Given the description of an element on the screen output the (x, y) to click on. 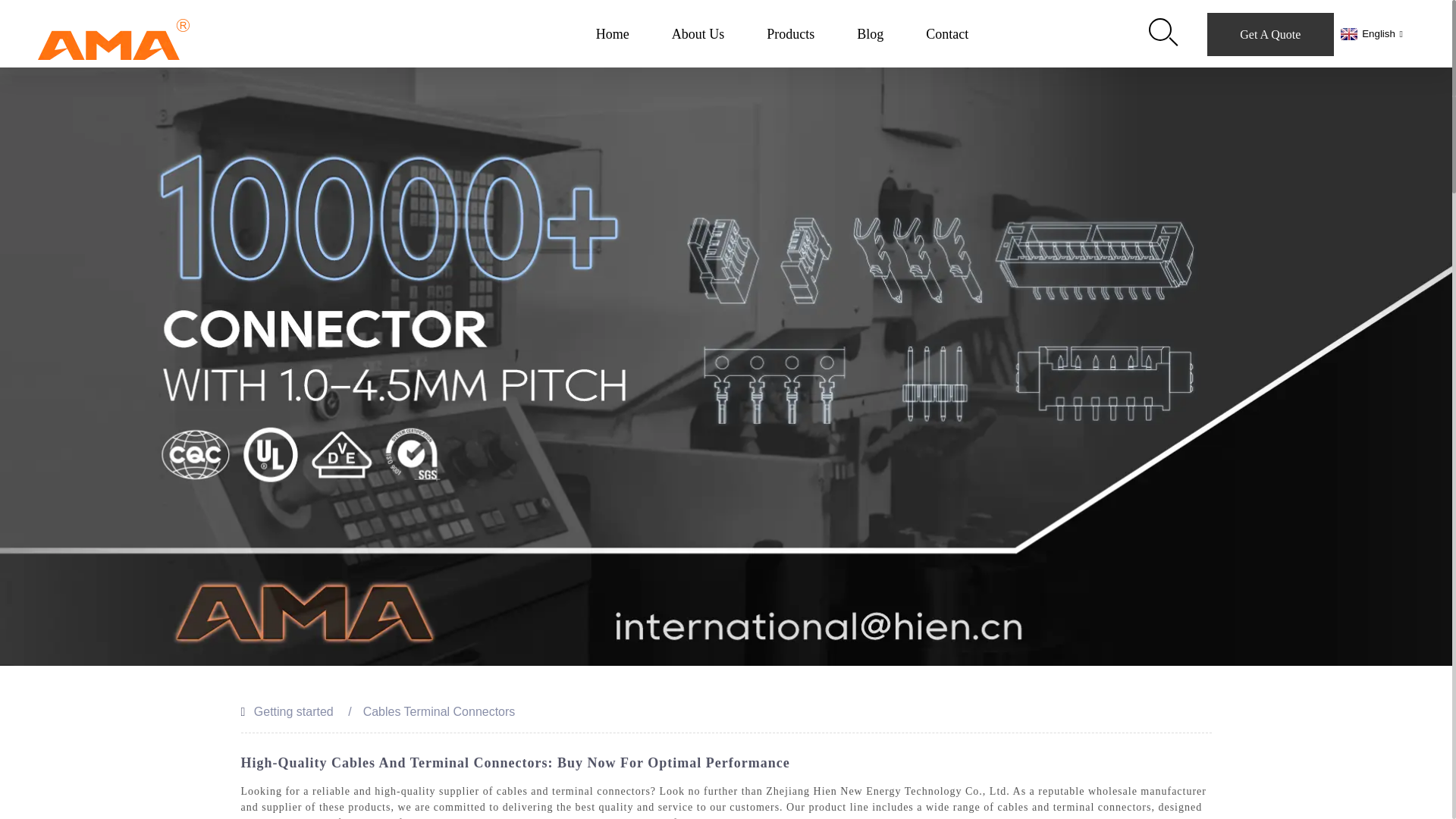
English (1369, 33)
About Us (698, 34)
Get A Quote (1270, 33)
Products (790, 34)
Contact (947, 34)
English (1369, 33)
Home (611, 34)
Blog (870, 34)
